Given the description of an element on the screen output the (x, y) to click on. 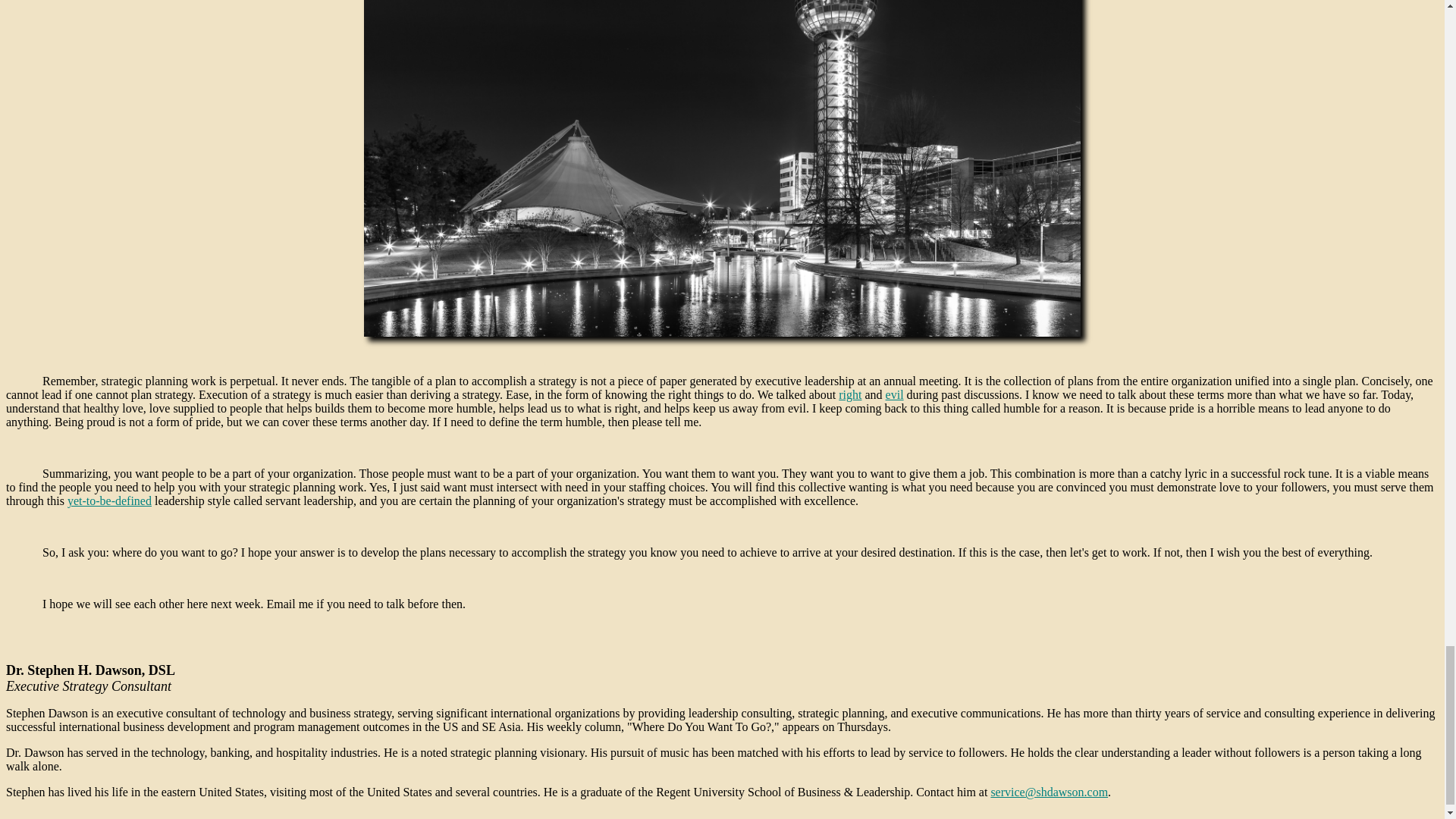
yet-to-be-defined (108, 500)
evil (894, 394)
right (849, 394)
